Given the description of an element on the screen output the (x, y) to click on. 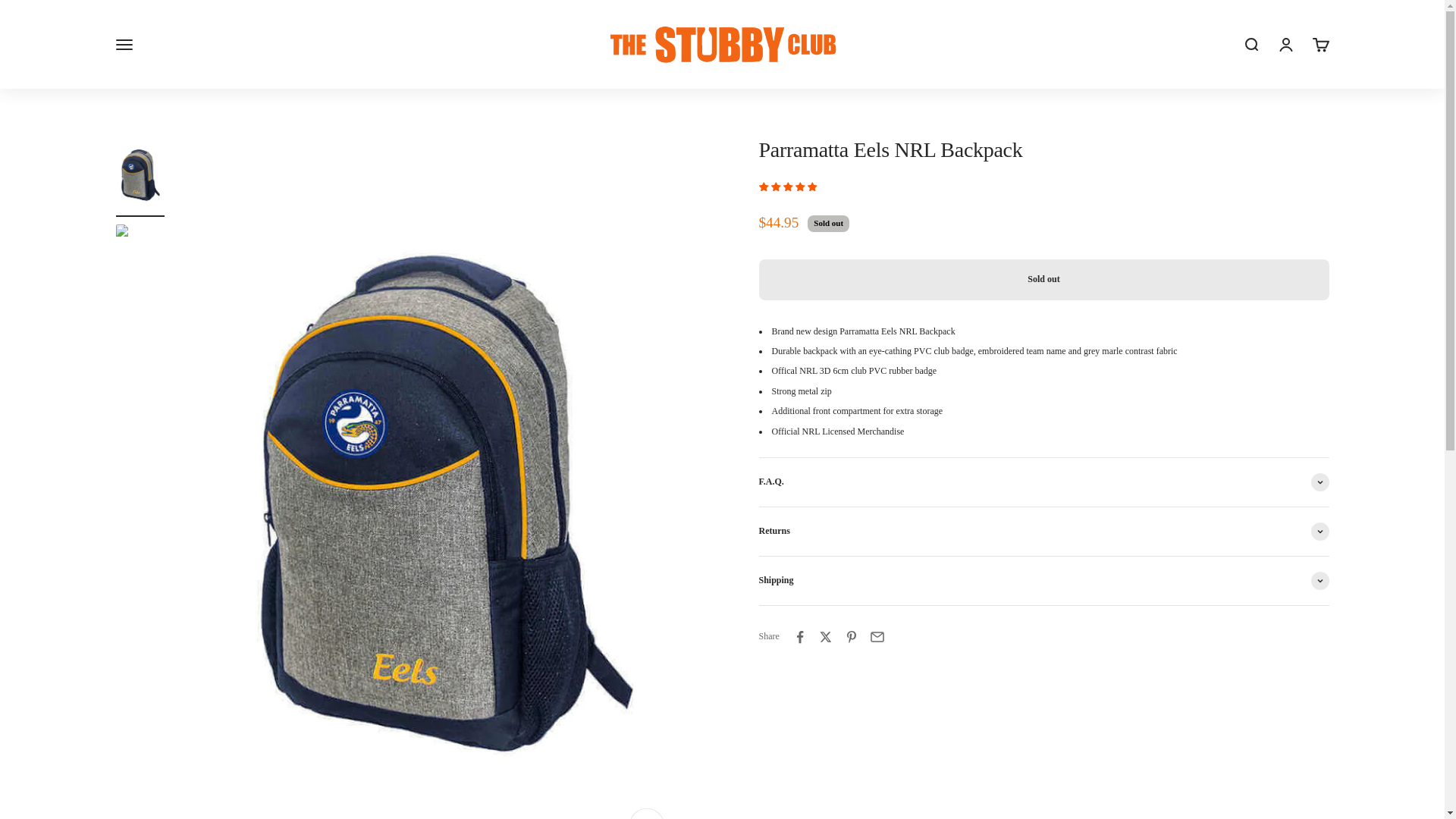
Zoom (649, 814)
Open account page (1285, 44)
Open search (1250, 44)
Open navigation menu (1319, 44)
